Given the description of an element on the screen output the (x, y) to click on. 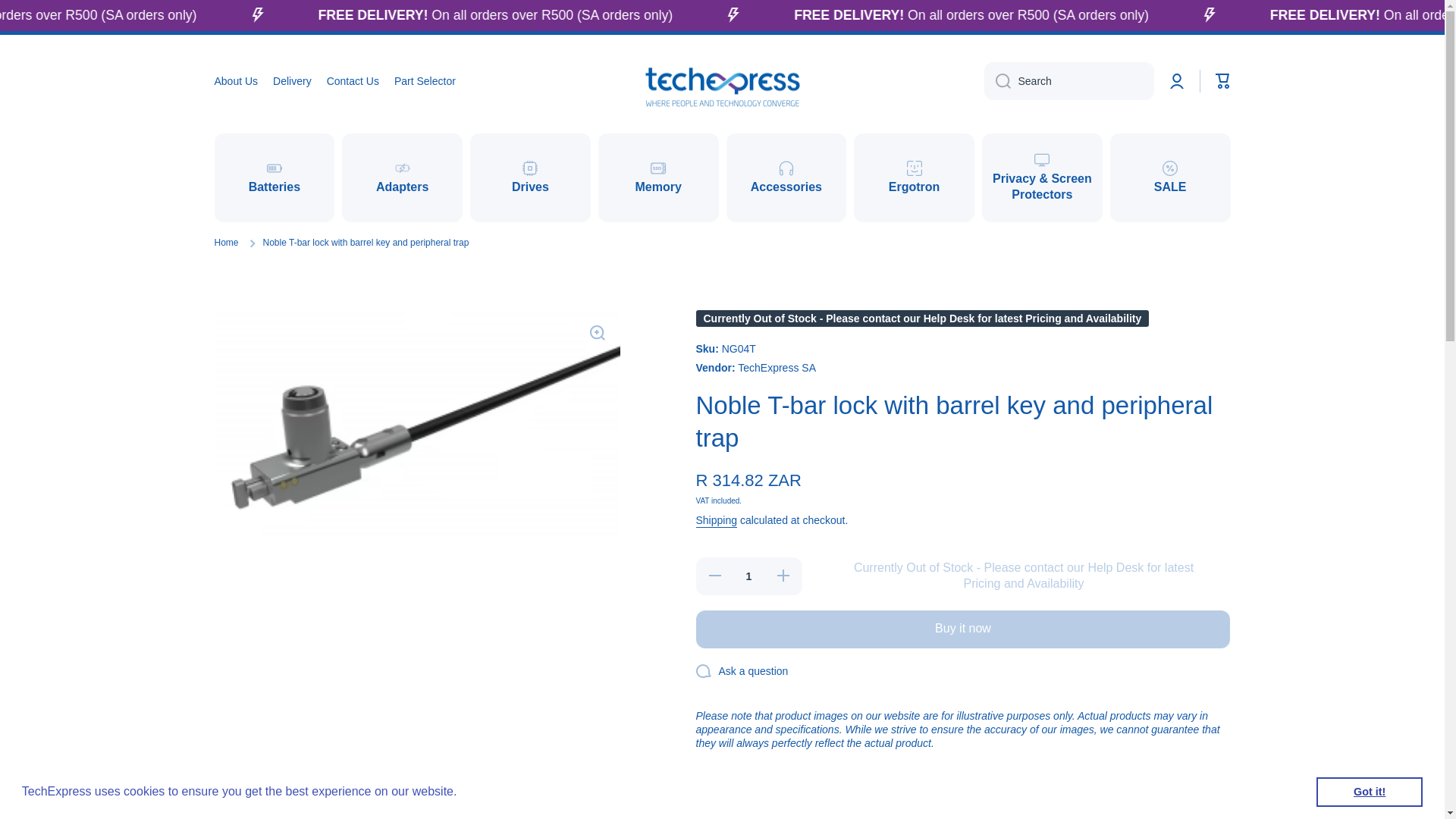
Drives (530, 177)
Memory (658, 177)
Accessories (786, 177)
Cart (1222, 80)
Log in (1177, 80)
About Us (235, 80)
1 (748, 576)
Got it! (1369, 791)
Contact Us (352, 80)
Adapters (402, 177)
